Given the description of an element on the screen output the (x, y) to click on. 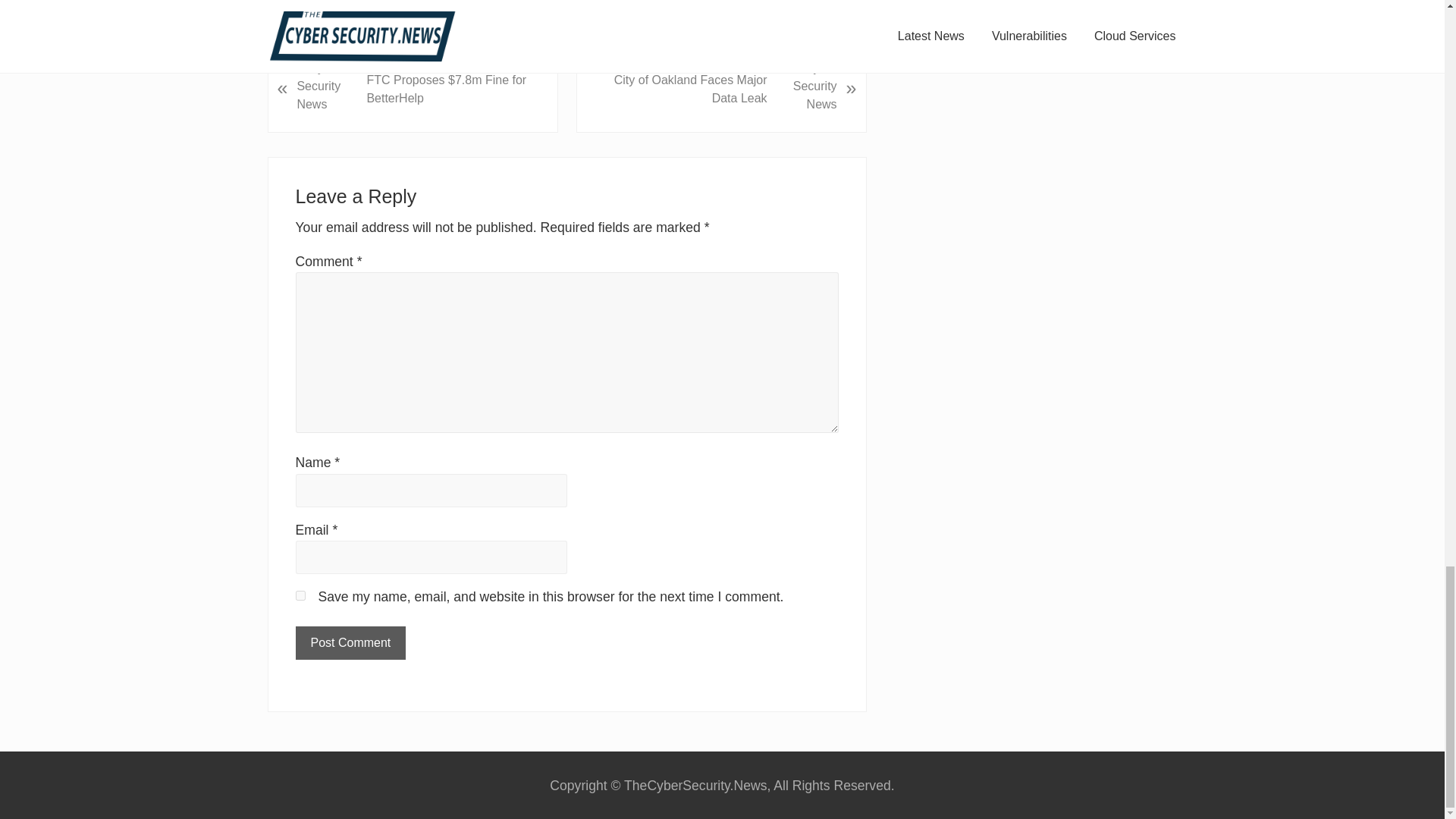
yes (300, 595)
Post Comment (350, 643)
Post Comment (350, 643)
